Given the description of an element on the screen output the (x, y) to click on. 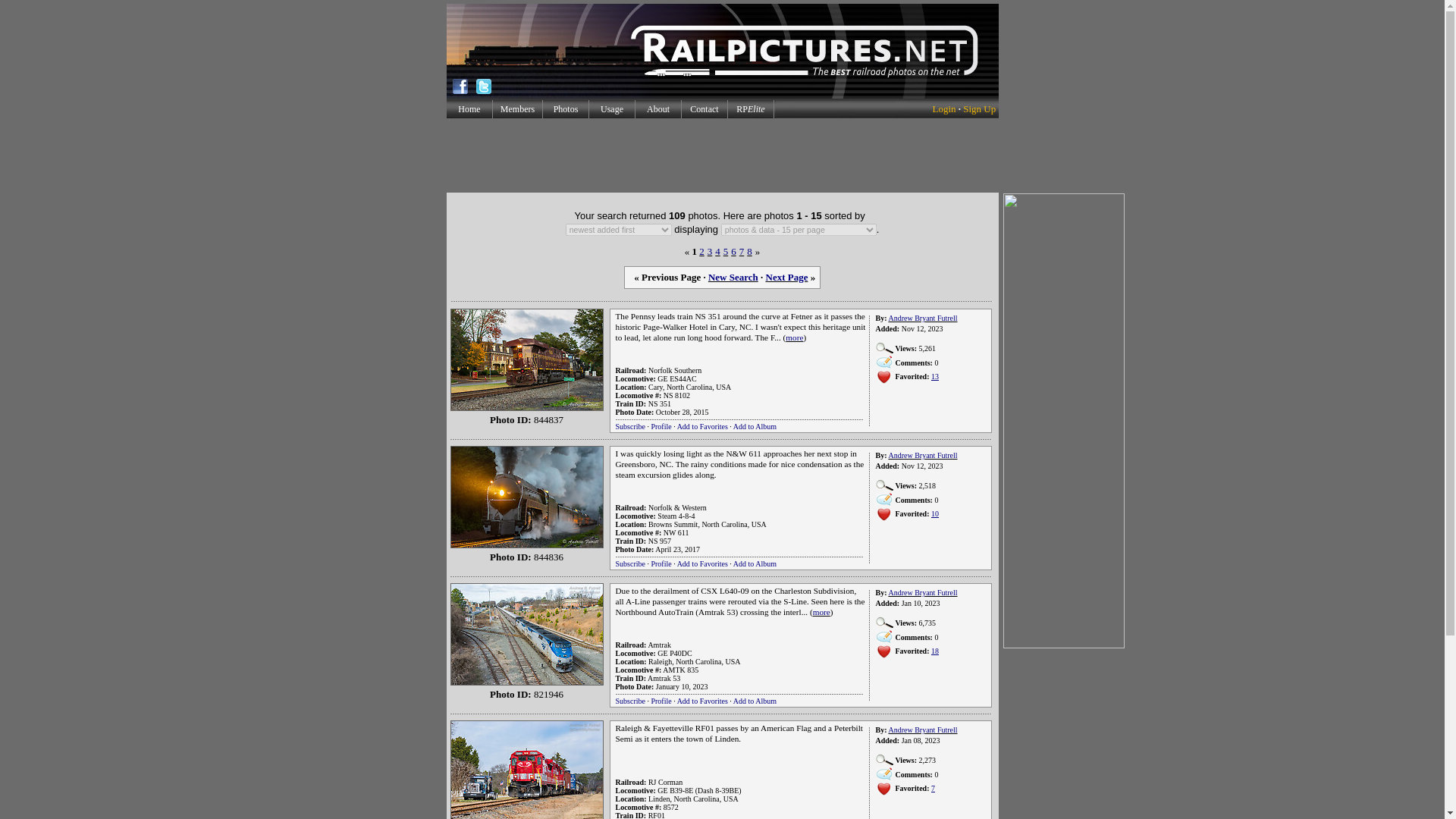
Add to Album (754, 426)
2 (701, 250)
Norfolk Southern (674, 370)
New Search (732, 276)
13 (935, 376)
NS 8102 (676, 395)
5 (726, 250)
Profile (660, 563)
Andrew Bryant Futrell (922, 317)
NW 611 (675, 532)
Subscribe (630, 426)
Sign Up (978, 108)
7 (741, 250)
NS 957 (659, 541)
Add to Favorites (702, 563)
